Given the description of an element on the screen output the (x, y) to click on. 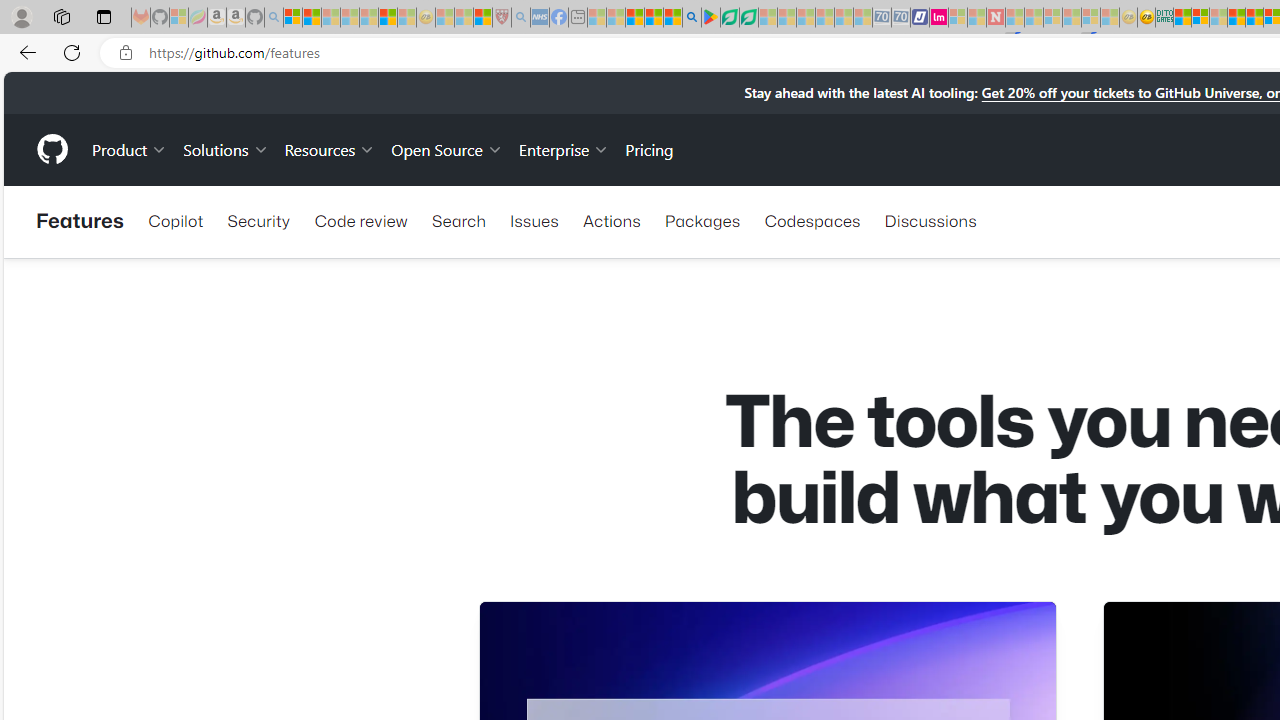
Product (130, 148)
Actions (611, 220)
